Given the description of an element on the screen output the (x, y) to click on. 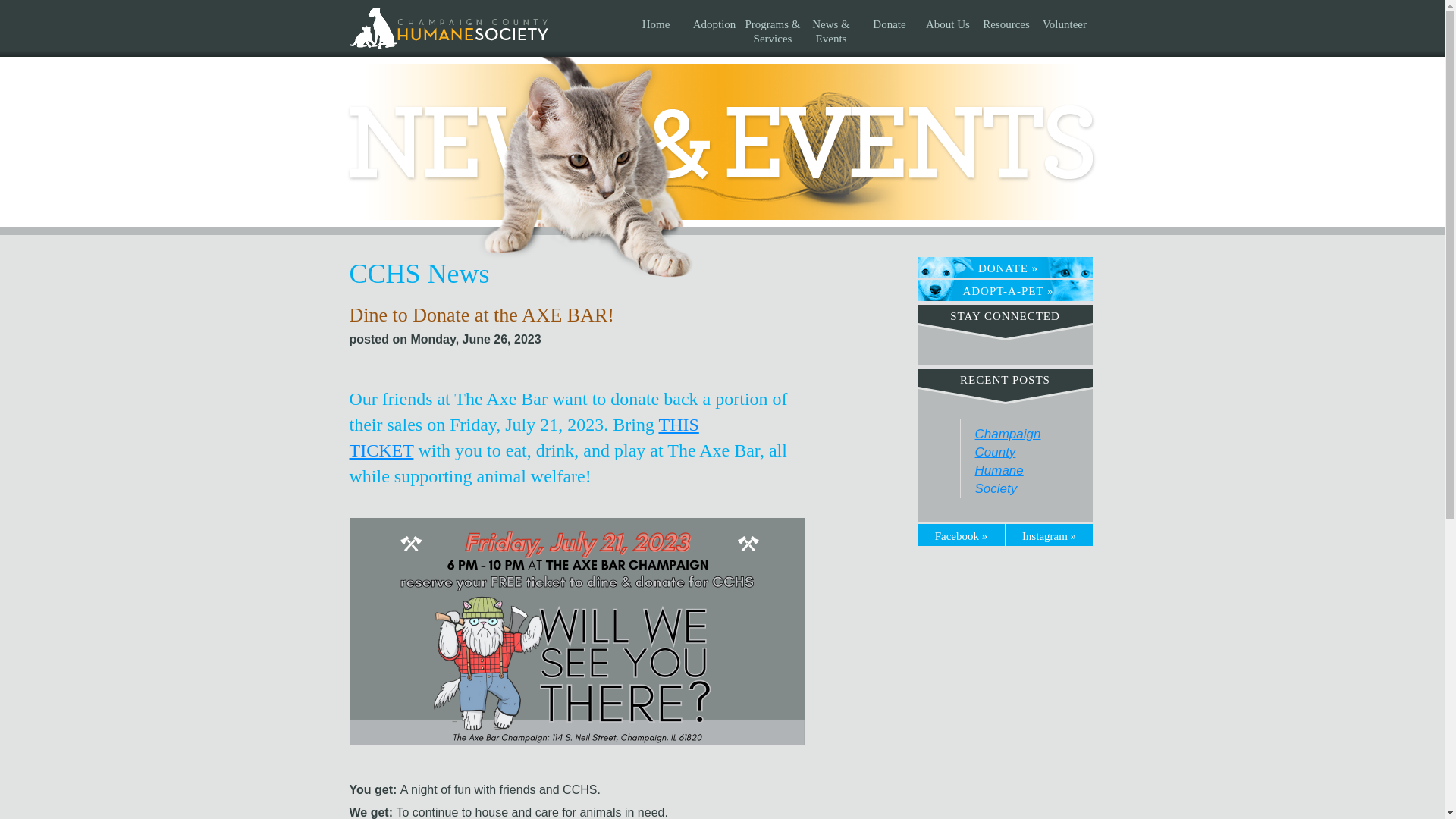
Follow Us on Instagram (1049, 534)
Champaign County Humane Society (451, 107)
Like Us on Facebook! (961, 534)
Home (655, 27)
Adoption (714, 27)
Donate Now (1004, 268)
Donate (889, 27)
